Given the description of an element on the screen output the (x, y) to click on. 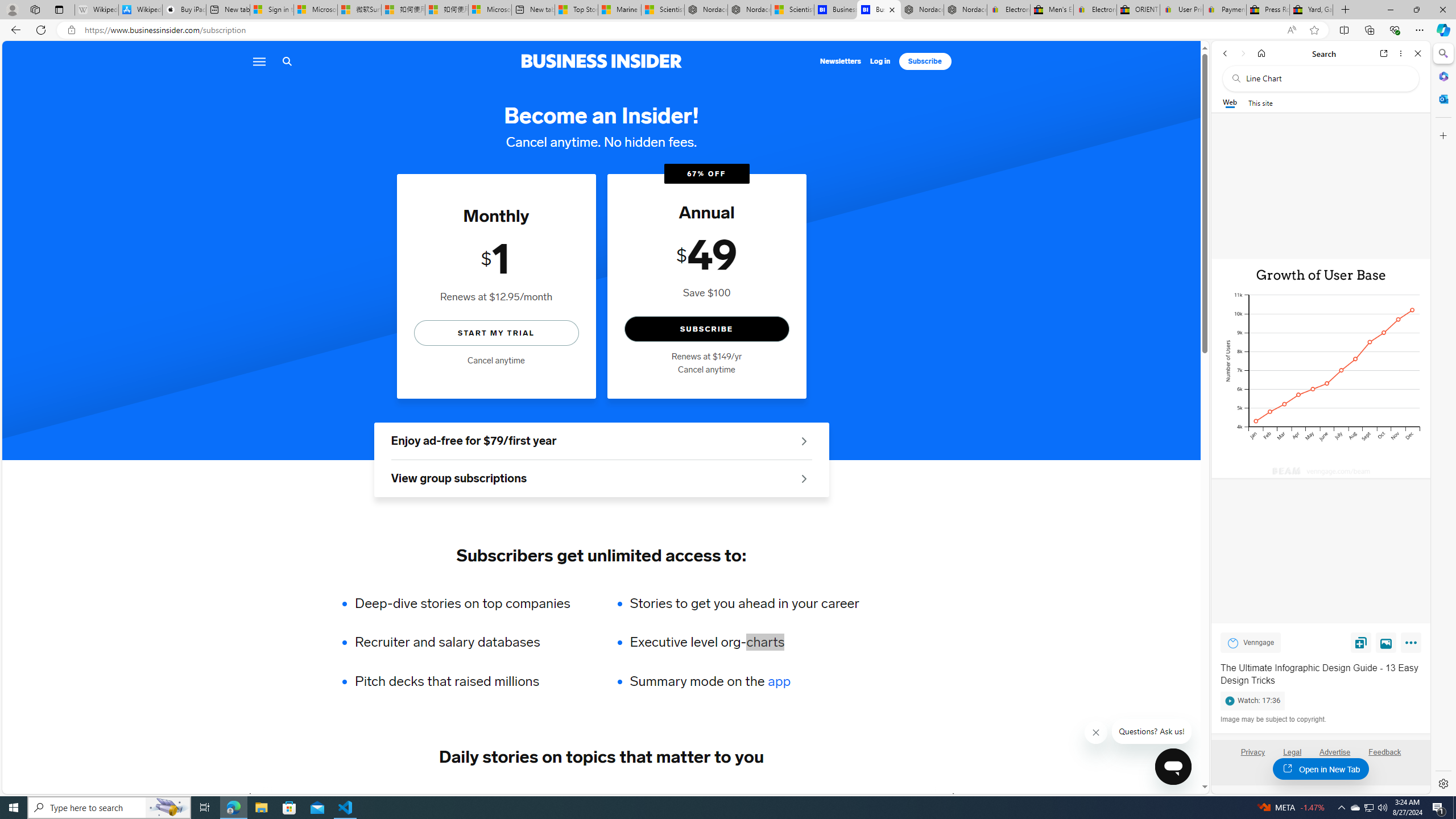
Pitch decks that raised millions (470, 681)
FINANCE (485, 796)
PERSONAL FINANCE (577, 796)
START MY TRIAL (496, 332)
STRATEGY (890, 796)
Enjoy ad-free for $79/first year (601, 441)
